Given the description of an element on the screen output the (x, y) to click on. 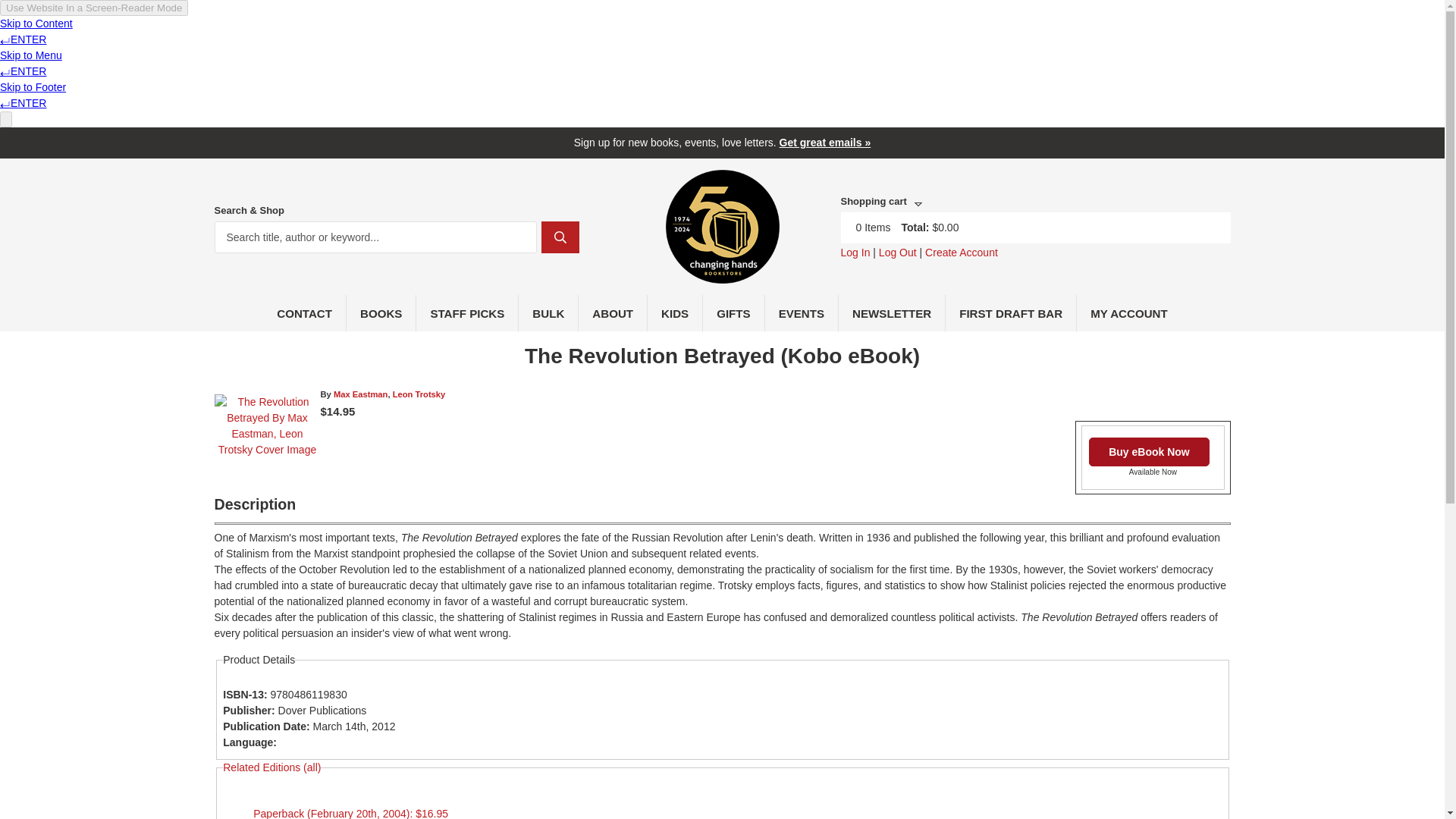
ABOUT (612, 312)
BULK (548, 312)
CONTACT (304, 312)
Home page (721, 275)
Search title, author or keyword... (374, 237)
Buy eBook Now (1149, 451)
Log In (854, 252)
Create Account (960, 252)
Search (560, 237)
